Given the description of an element on the screen output the (x, y) to click on. 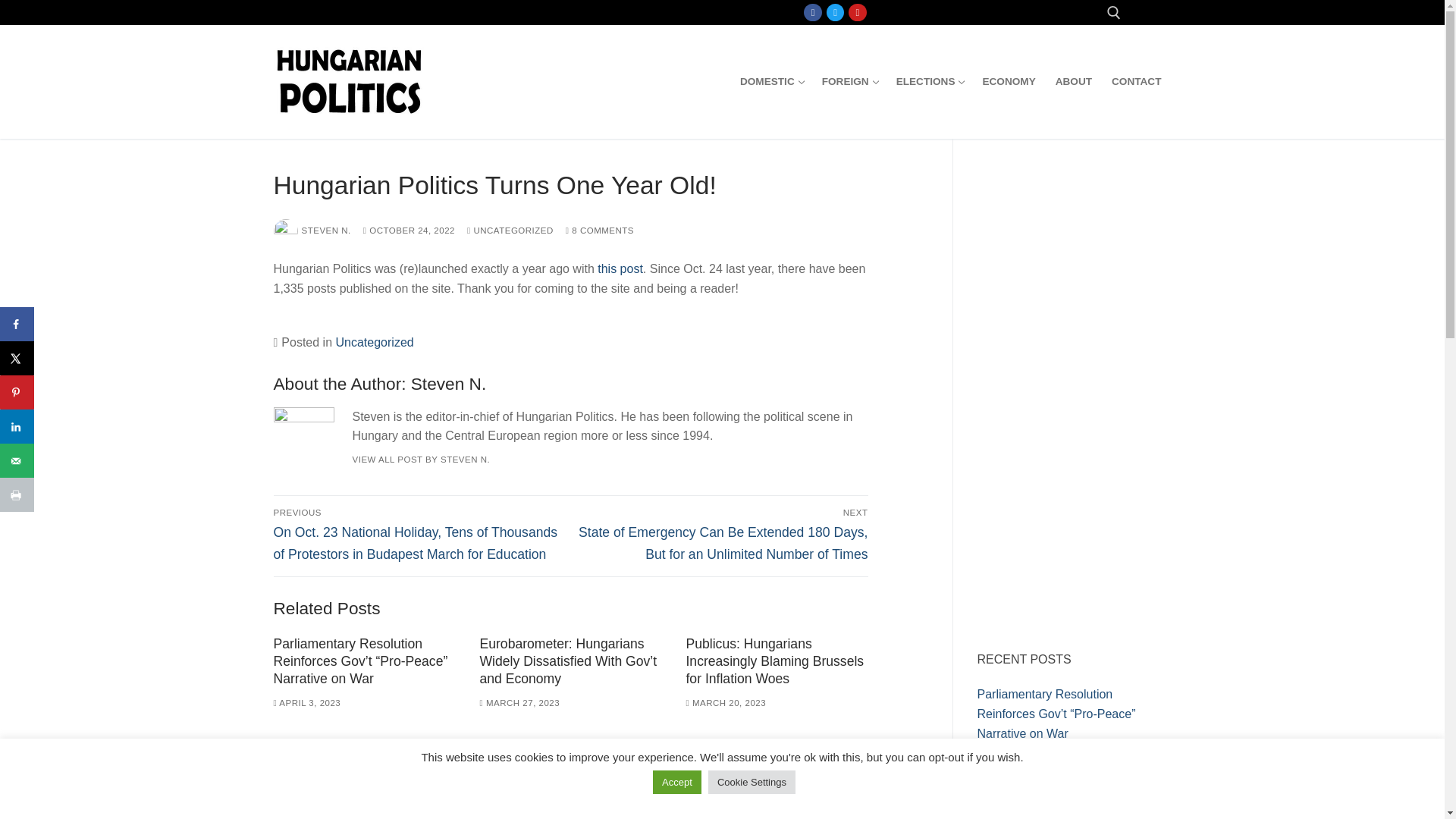
Share on Facebook (929, 81)
MARCH 20, 2023 (16, 324)
Save to Pinterest (725, 702)
Facebook (16, 392)
MARCH 27, 2023 (771, 81)
CONTACT (813, 12)
OCTOBER 24, 2022 (519, 702)
STEVEN N. (1136, 81)
Uncategorized (408, 230)
Twitter (311, 230)
